Given the description of an element on the screen output the (x, y) to click on. 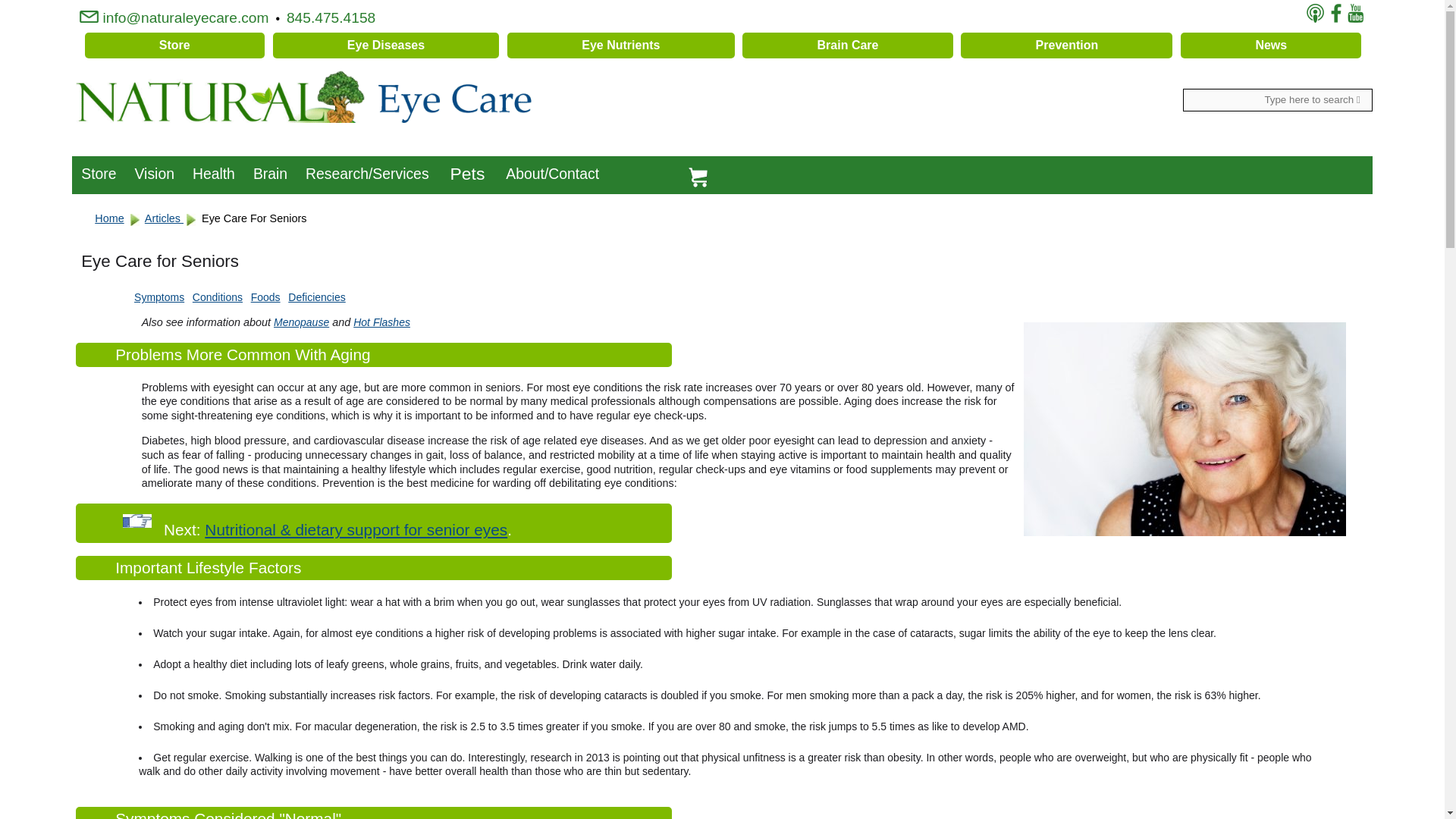
Eye Nutrients (620, 45)
Follow via Youtube (1355, 13)
Podcasts (1316, 13)
Brain Care (847, 45)
Prevention (1066, 45)
Eye Diseases (386, 45)
845.475.4158 (333, 17)
Store (174, 45)
Follow via Facebook (1335, 13)
News (1270, 45)
Store (98, 169)
Vision (155, 169)
